Given the description of an element on the screen output the (x, y) to click on. 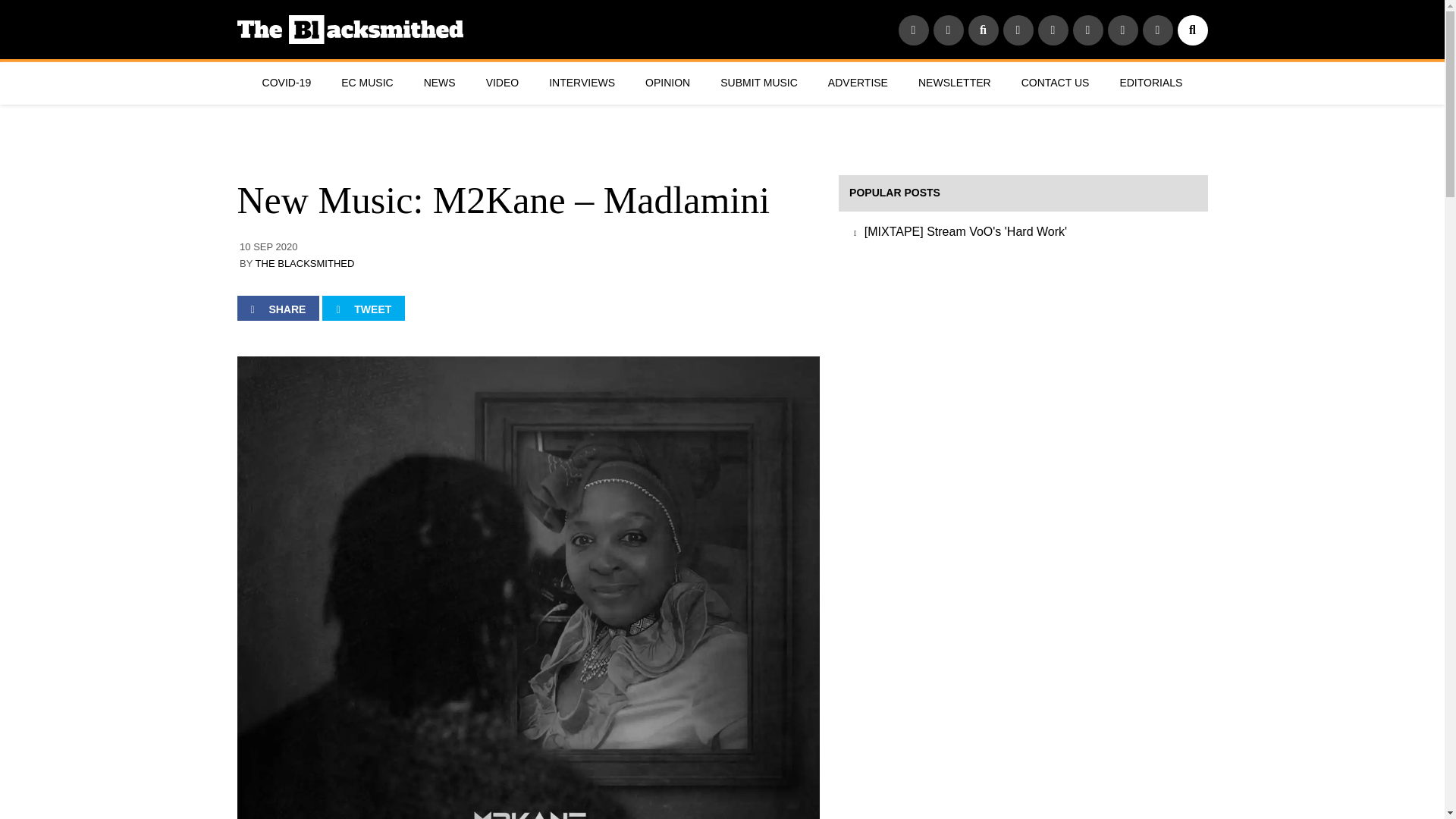
EDITORIALS (1150, 83)
INTERVIEWS (581, 83)
NEWSLETTER (954, 83)
SUBMIT MUSIC (758, 83)
EC MUSIC (366, 83)
CONTACT US (1055, 83)
ADVERTISE (857, 83)
VIDEO (501, 83)
NEWS (439, 83)
OPINION (667, 83)
